Given the description of an element on the screen output the (x, y) to click on. 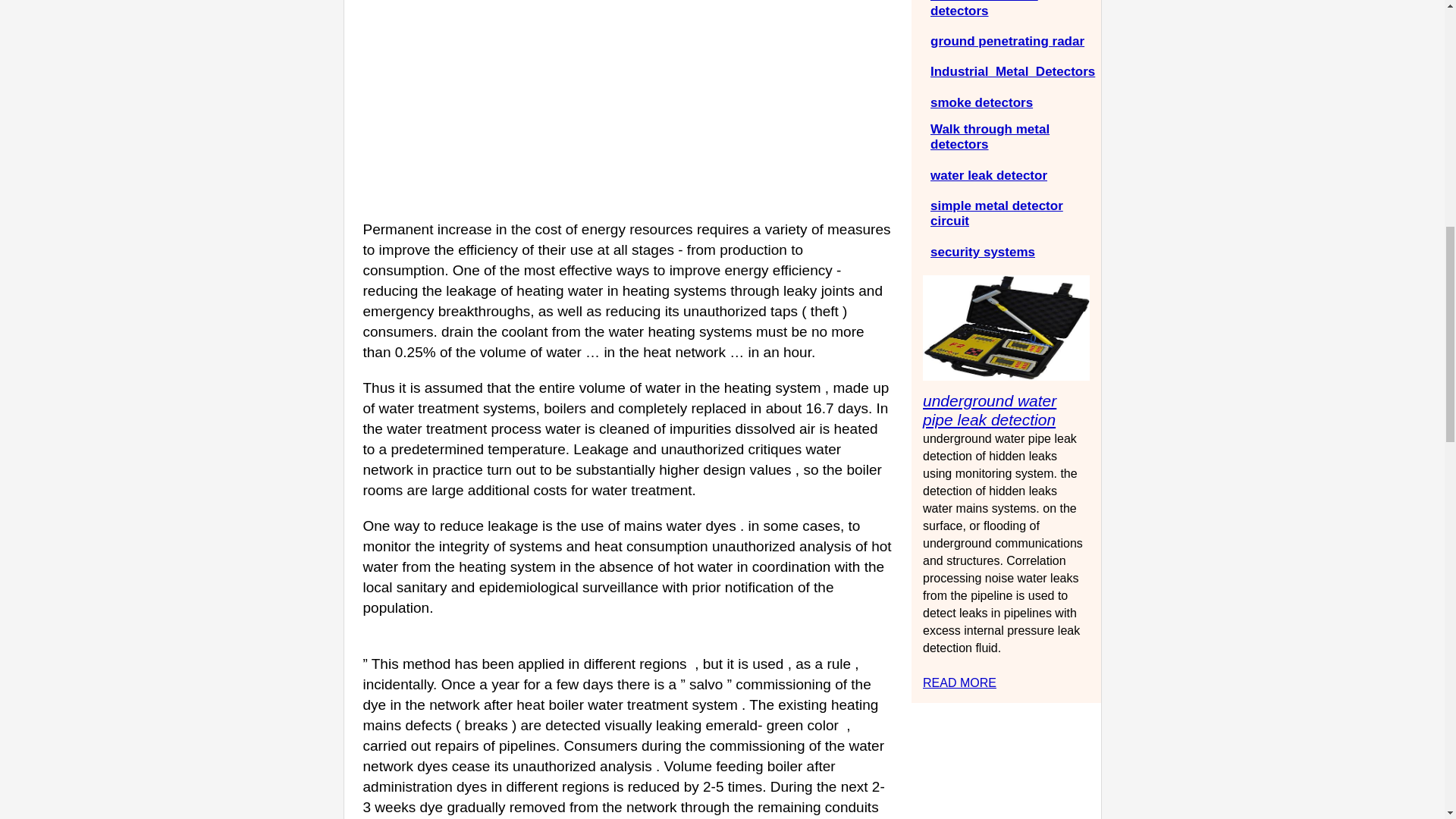
underground water pipe leak detection (959, 682)
smoke detectors (981, 102)
simple metal detector circuit (996, 213)
Walk through metal detectors (989, 136)
smoke detectors (981, 102)
water leak detector (988, 175)
simple metal detector circuit (996, 213)
security systems (982, 251)
READ MORE (959, 682)
underground water pipe leak detection (990, 410)
carbon monoxide detectors (984, 8)
security systems (982, 251)
underground water pipe leak detection (990, 410)
ground penetrating radar (1007, 41)
carbon monoxide detectors (984, 8)
